Given the description of an element on the screen output the (x, y) to click on. 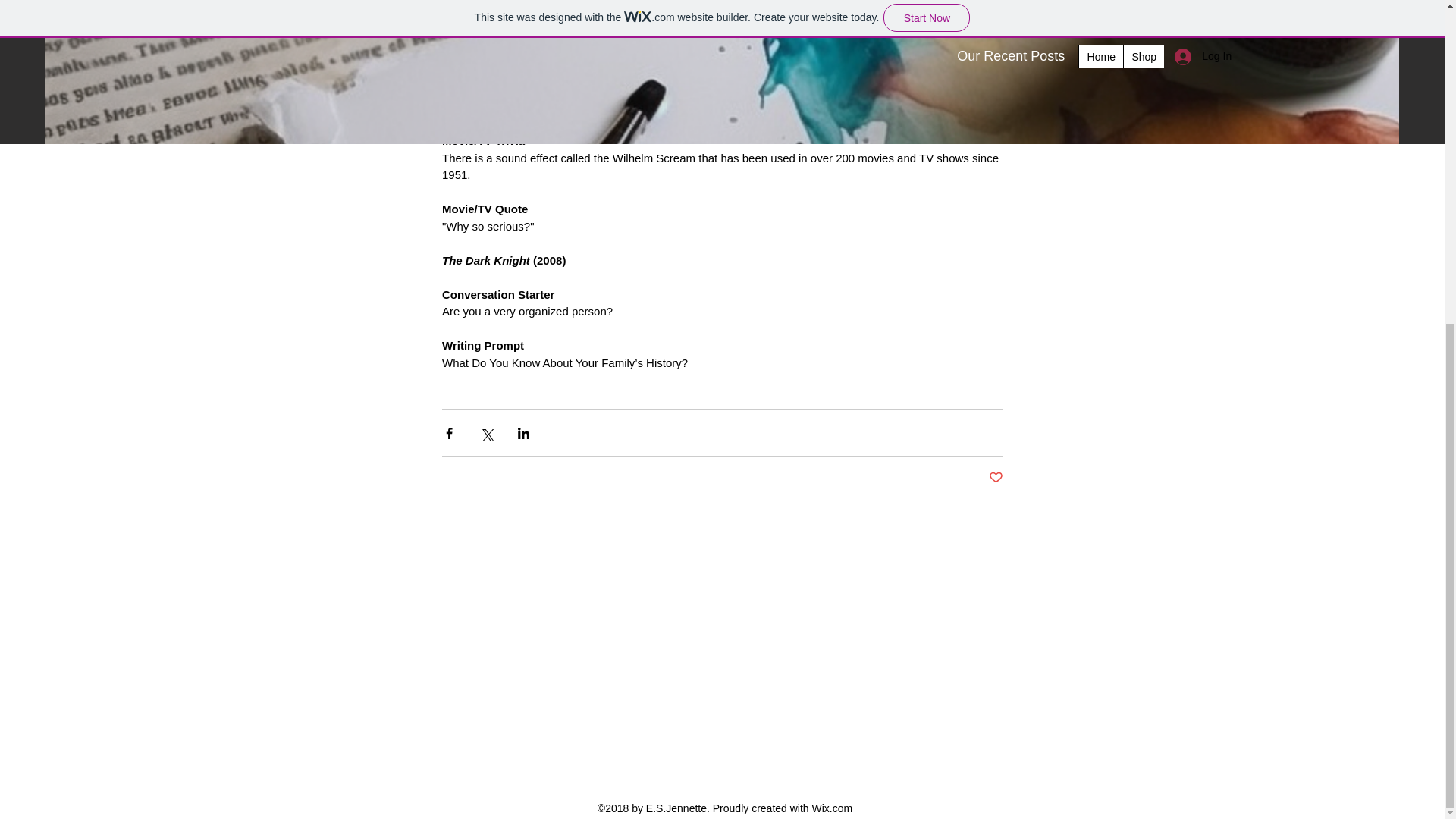
January 2024 (730, 692)
June 2024 (730, 607)
March 2024 (730, 659)
April 2024 (730, 641)
December 2023 (730, 710)
February 2024 (730, 675)
July 2024 (730, 590)
May 2024 (730, 624)
Post not marked as liked (995, 478)
August 2024 (730, 573)
